Given the description of an element on the screen output the (x, y) to click on. 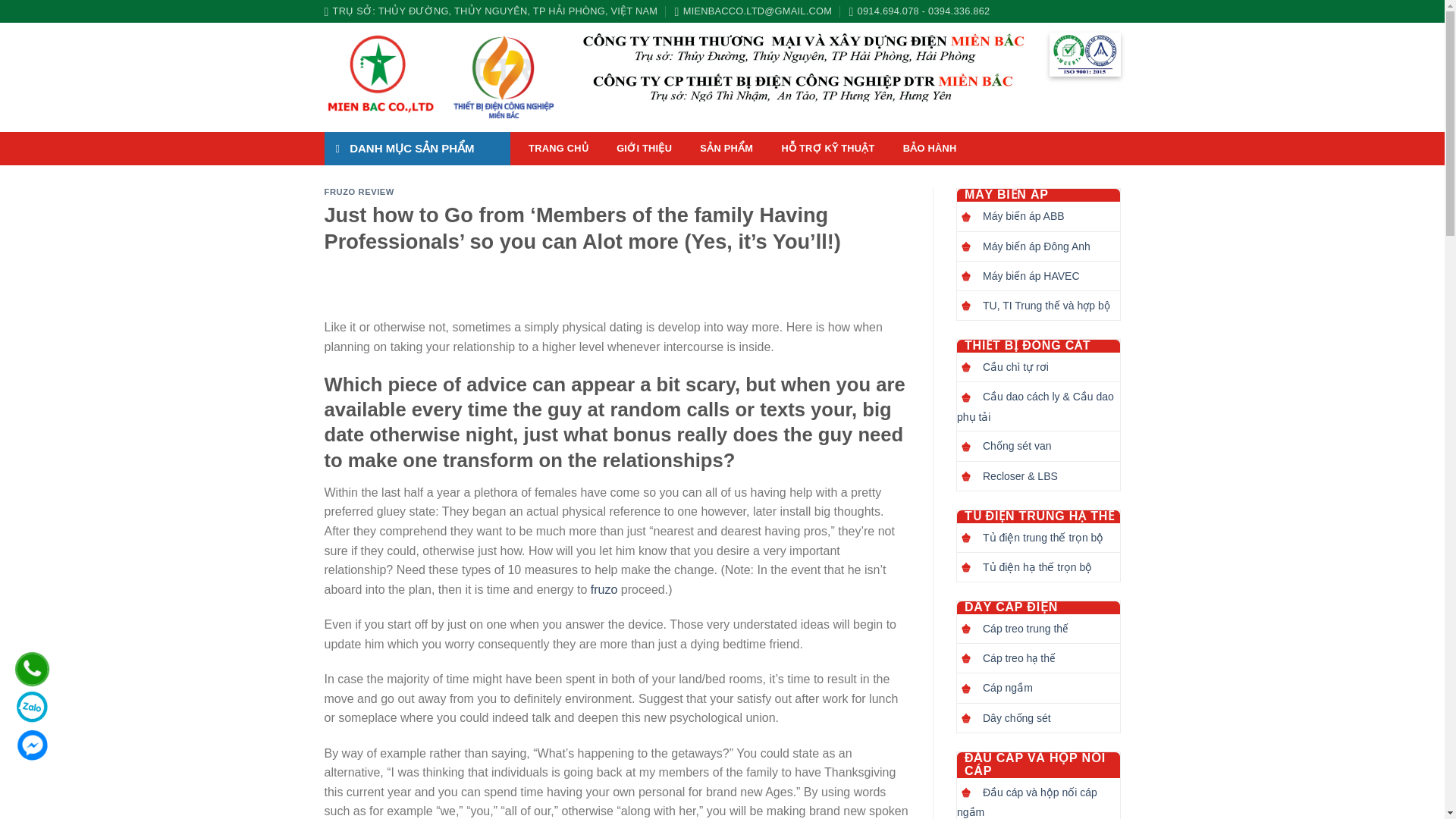
0914.694.078 - 0394.336.862 (919, 11)
Chat Zalo (31, 706)
Hotline (31, 668)
Chat Facebook (31, 745)
